Given the description of an element on the screen output the (x, y) to click on. 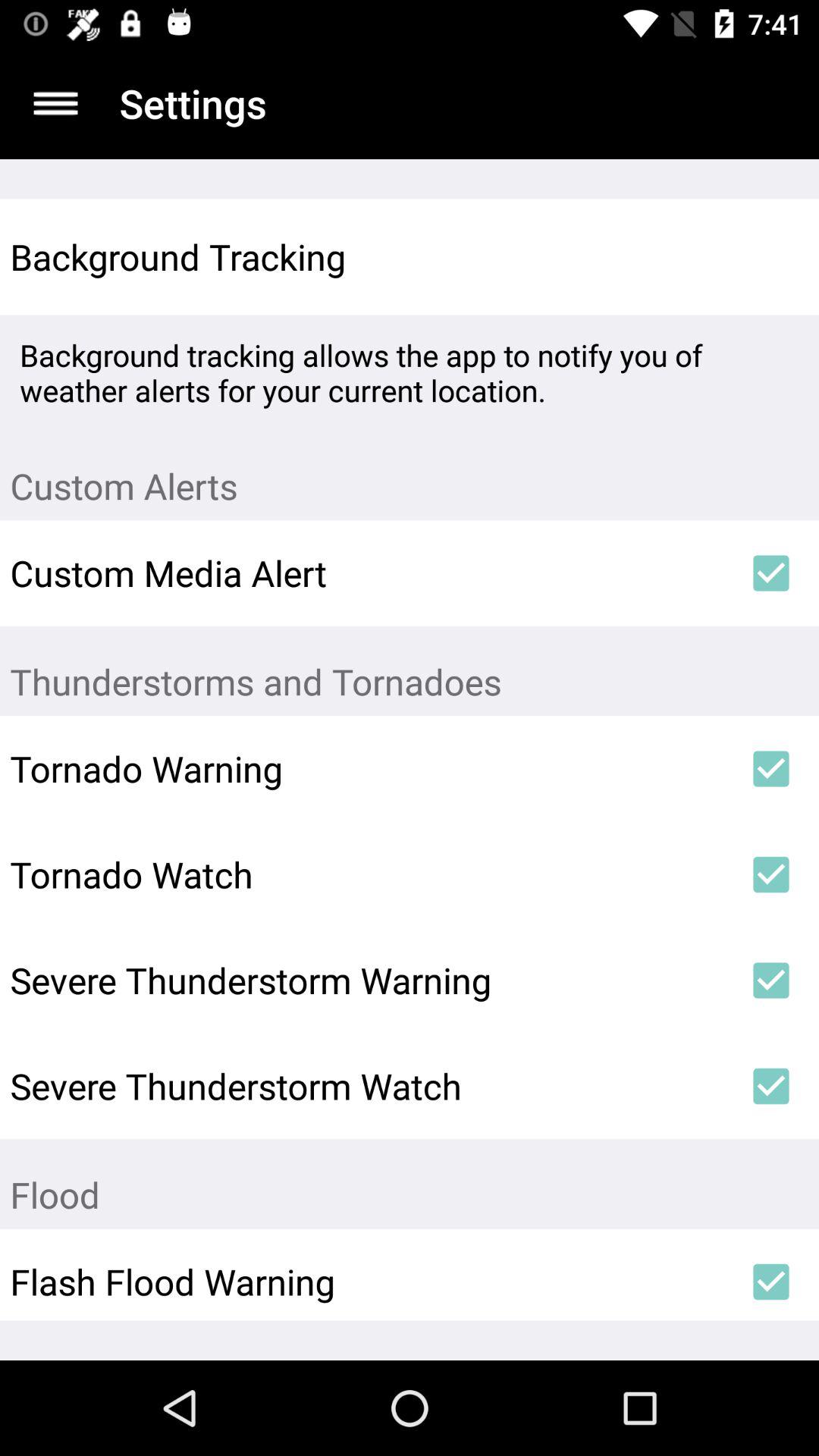
press the icon next to the severe thunderstorm watch icon (771, 1086)
